Given the description of an element on the screen output the (x, y) to click on. 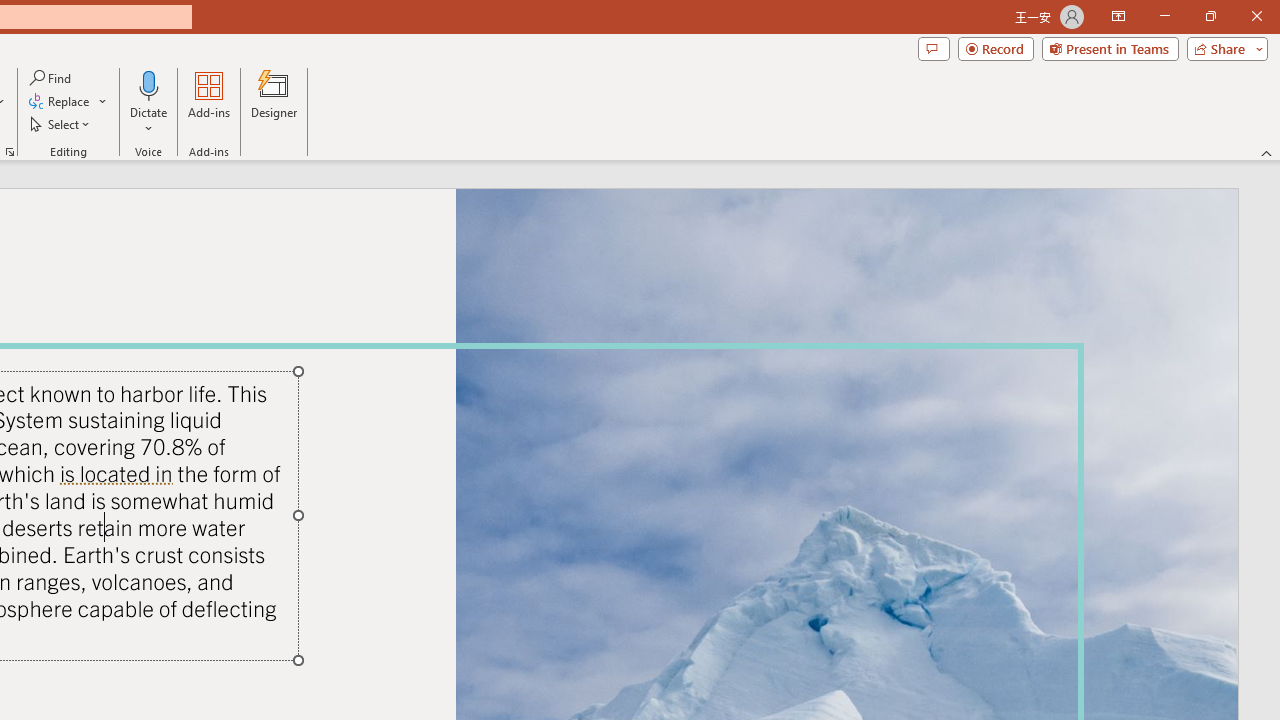
Class: NetUIComboboxAnchor (219, 468)
Class: NetUIToolWindow (320, 483)
